Given the description of an element on the screen output the (x, y) to click on. 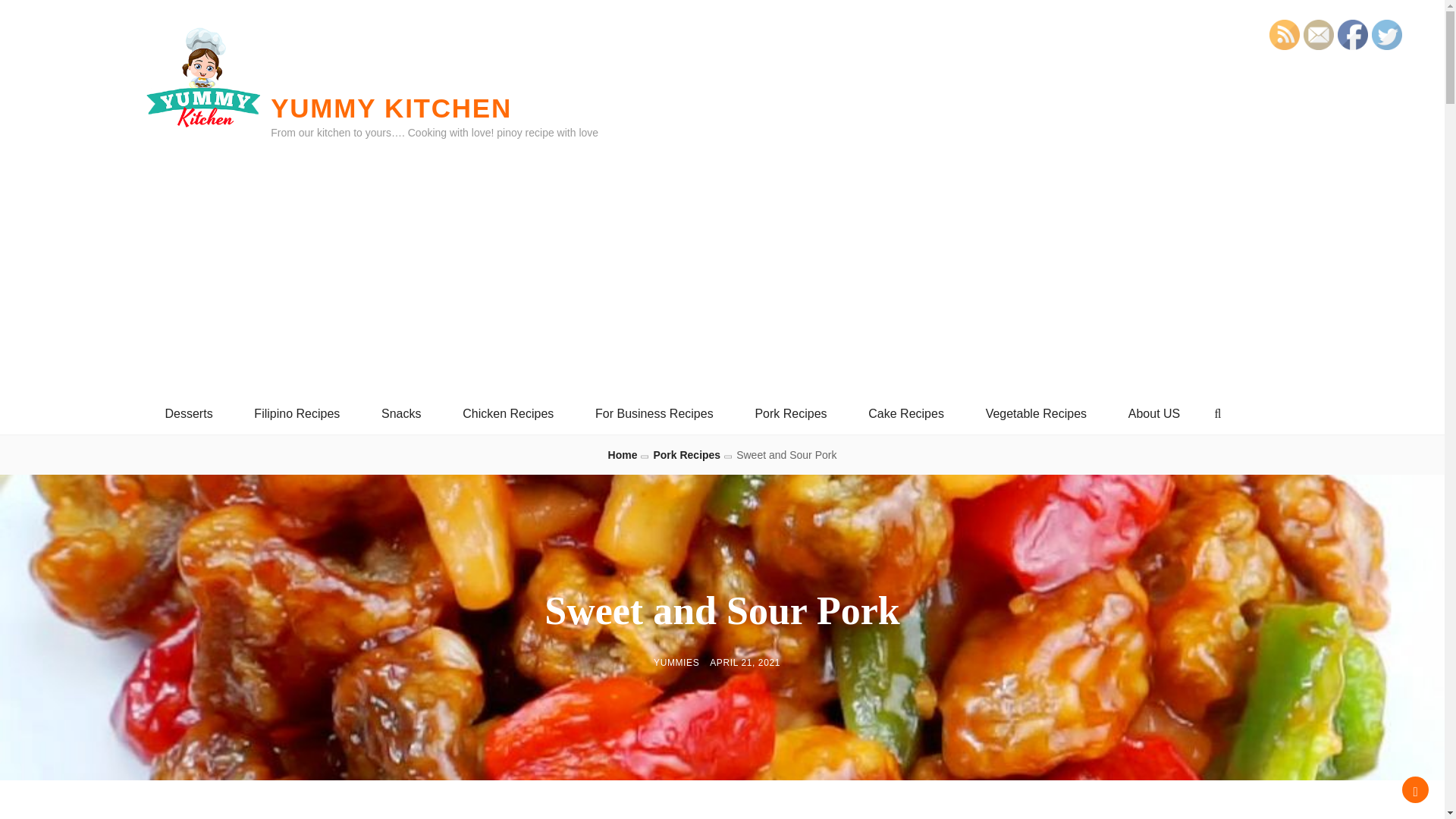
Snacks (400, 413)
About US (1153, 413)
YUMMY KITCHEN (391, 107)
Follow by Email (1318, 34)
YUMMIES (675, 662)
RSS (1284, 34)
Pork Recipes (790, 413)
Search (1217, 413)
Cake Recipes (905, 413)
